Given the description of an element on the screen output the (x, y) to click on. 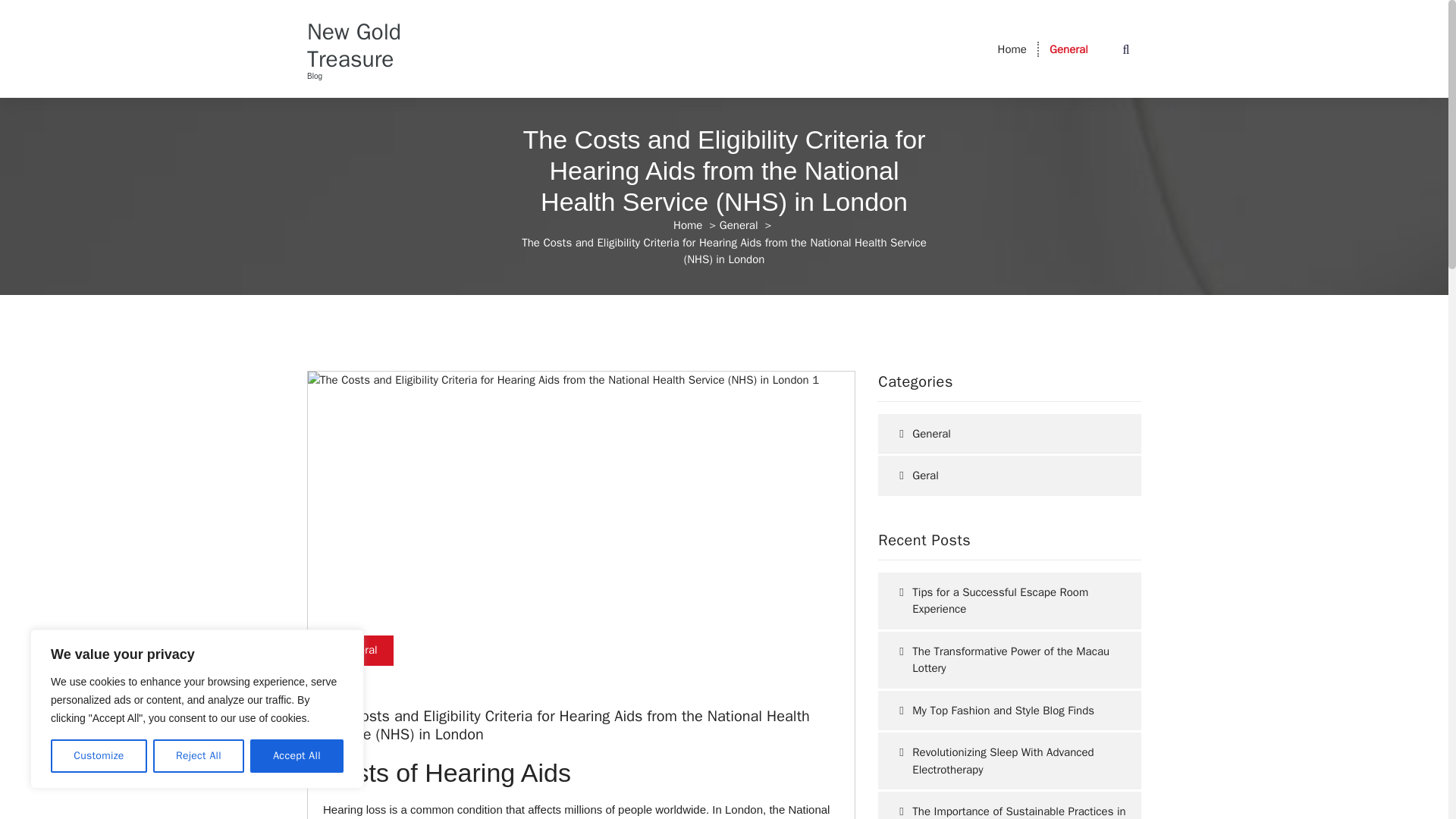
General (1068, 49)
General (738, 224)
General (1068, 49)
Accept All (296, 756)
Home (1012, 49)
General (358, 650)
Home (1012, 49)
Reject All (198, 756)
New Gold Treasure (366, 45)
Home (686, 224)
Customize (98, 756)
